Given the description of an element on the screen output the (x, y) to click on. 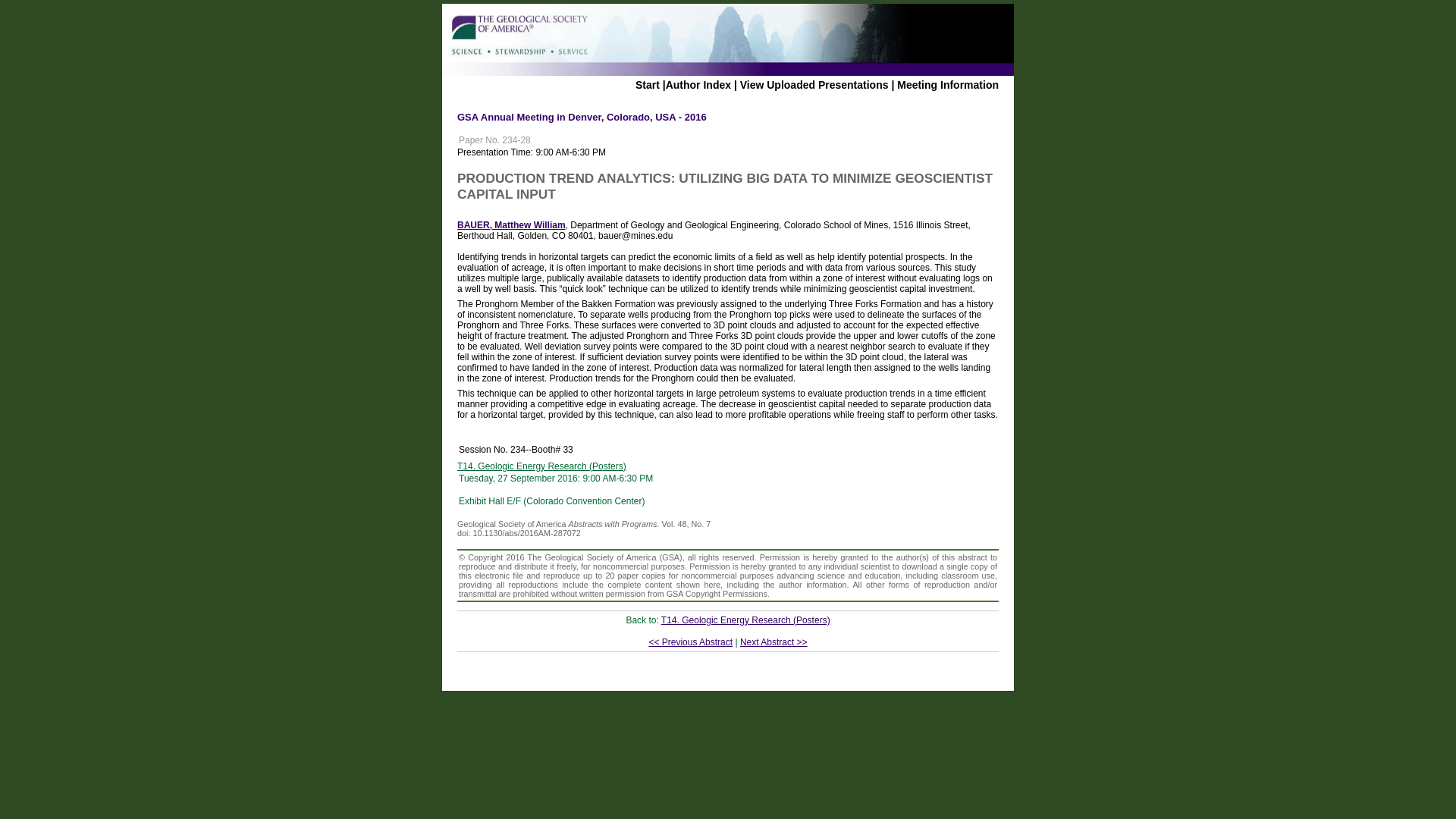
Start (646, 84)
Author Index (697, 84)
Meeting Information (947, 84)
BAUER, Matthew William (511, 225)
View Uploaded Presentations (813, 84)
